Given the description of an element on the screen output the (x, y) to click on. 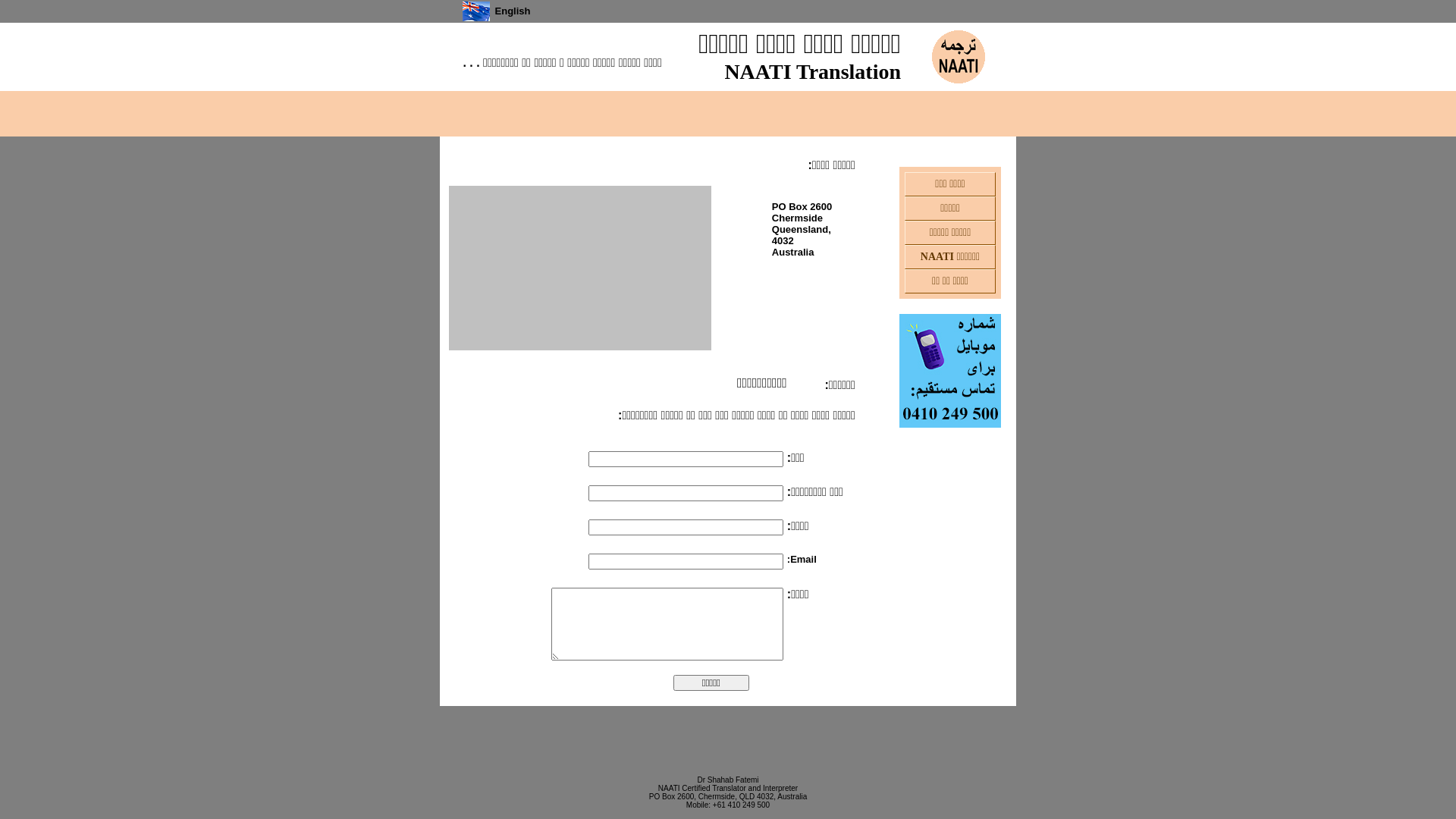
English Element type: text (512, 10)
English Element type: hover (475, 17)
